Given the description of an element on the screen output the (x, y) to click on. 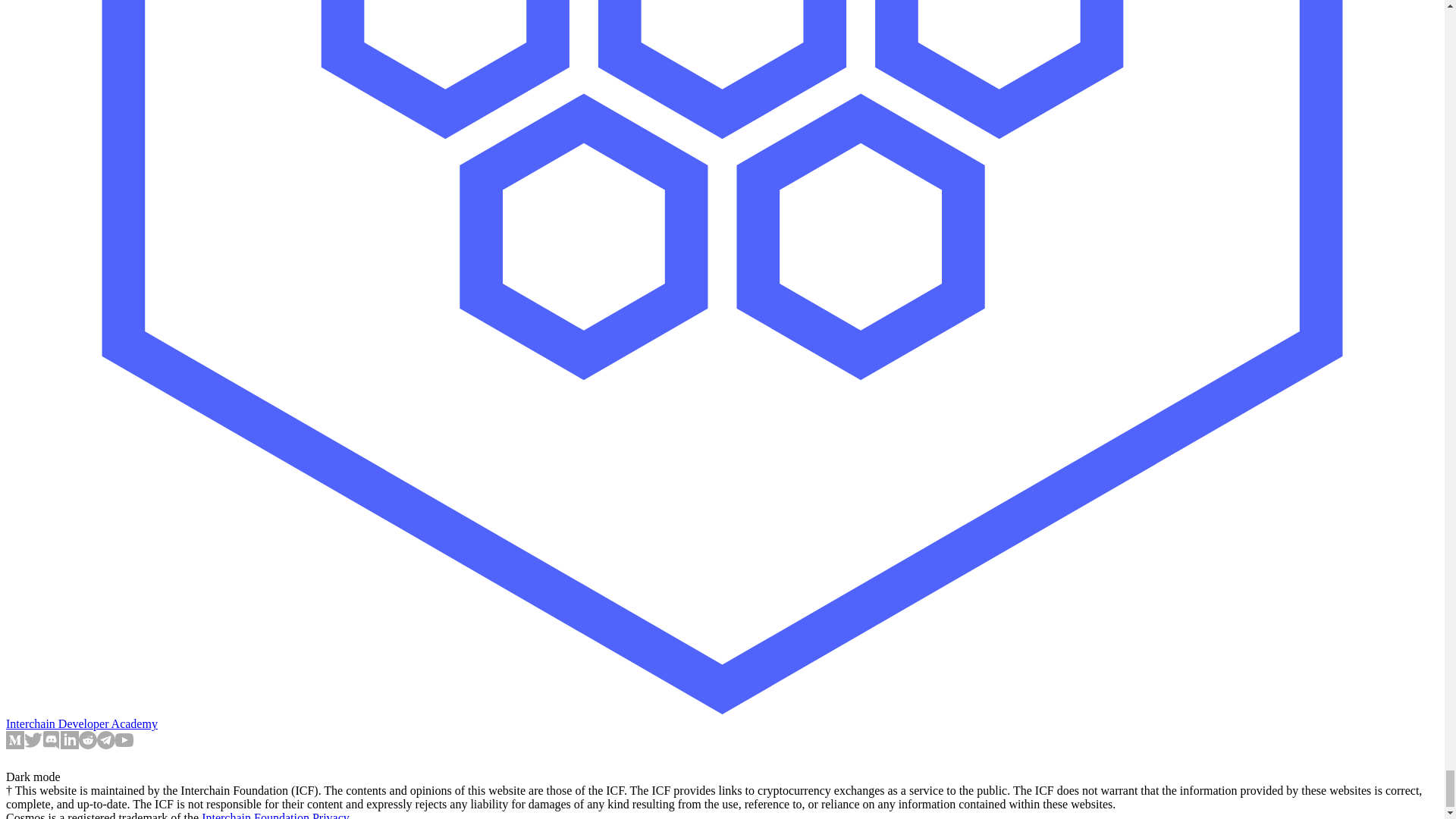
medium (14, 744)
youtube (124, 744)
twitter (33, 744)
discord (51, 744)
linkedin (69, 744)
reddit (87, 744)
telegram (106, 744)
